Given the description of an element on the screen output the (x, y) to click on. 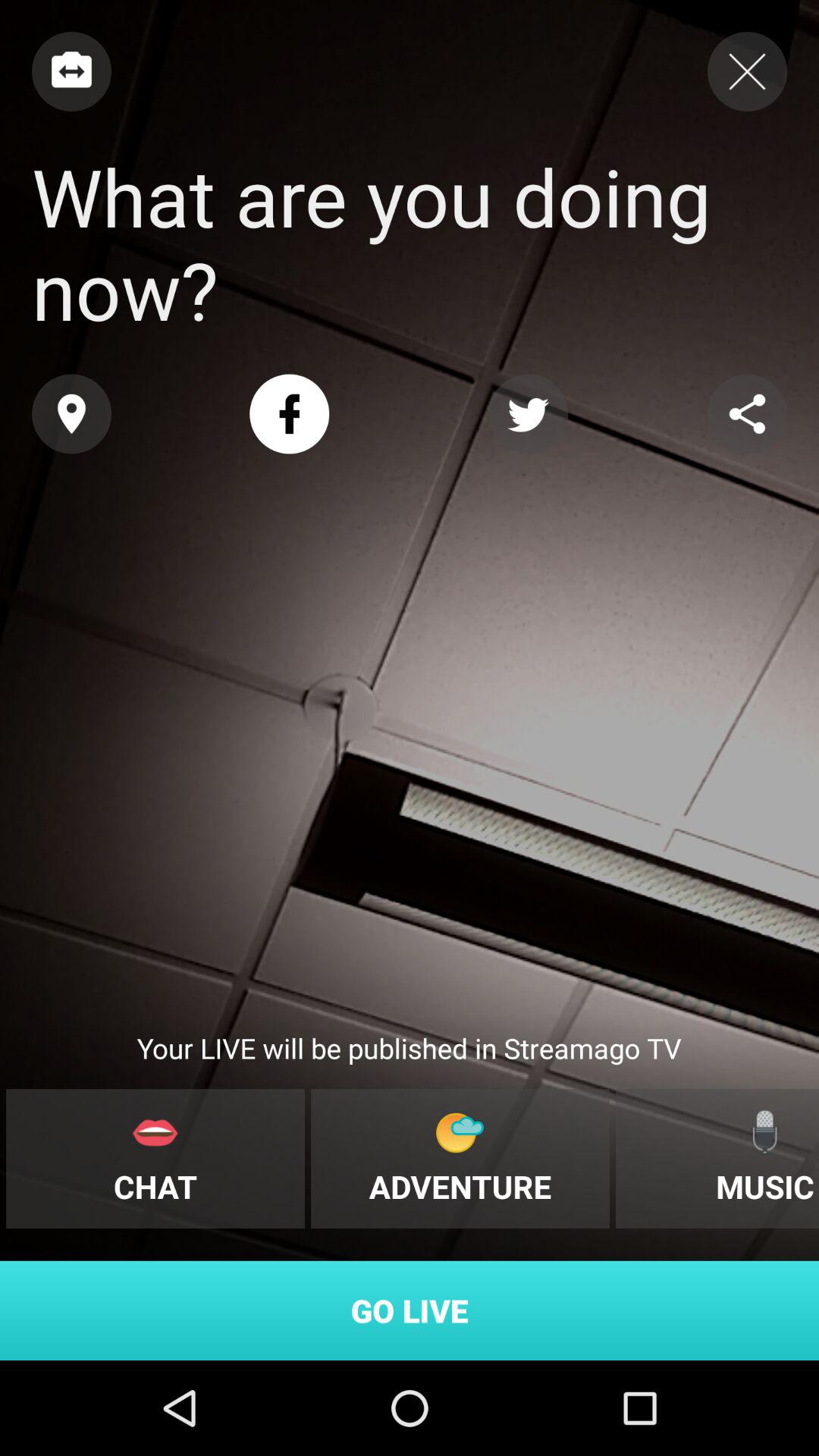
share the location (71, 413)
